Given the description of an element on the screen output the (x, y) to click on. 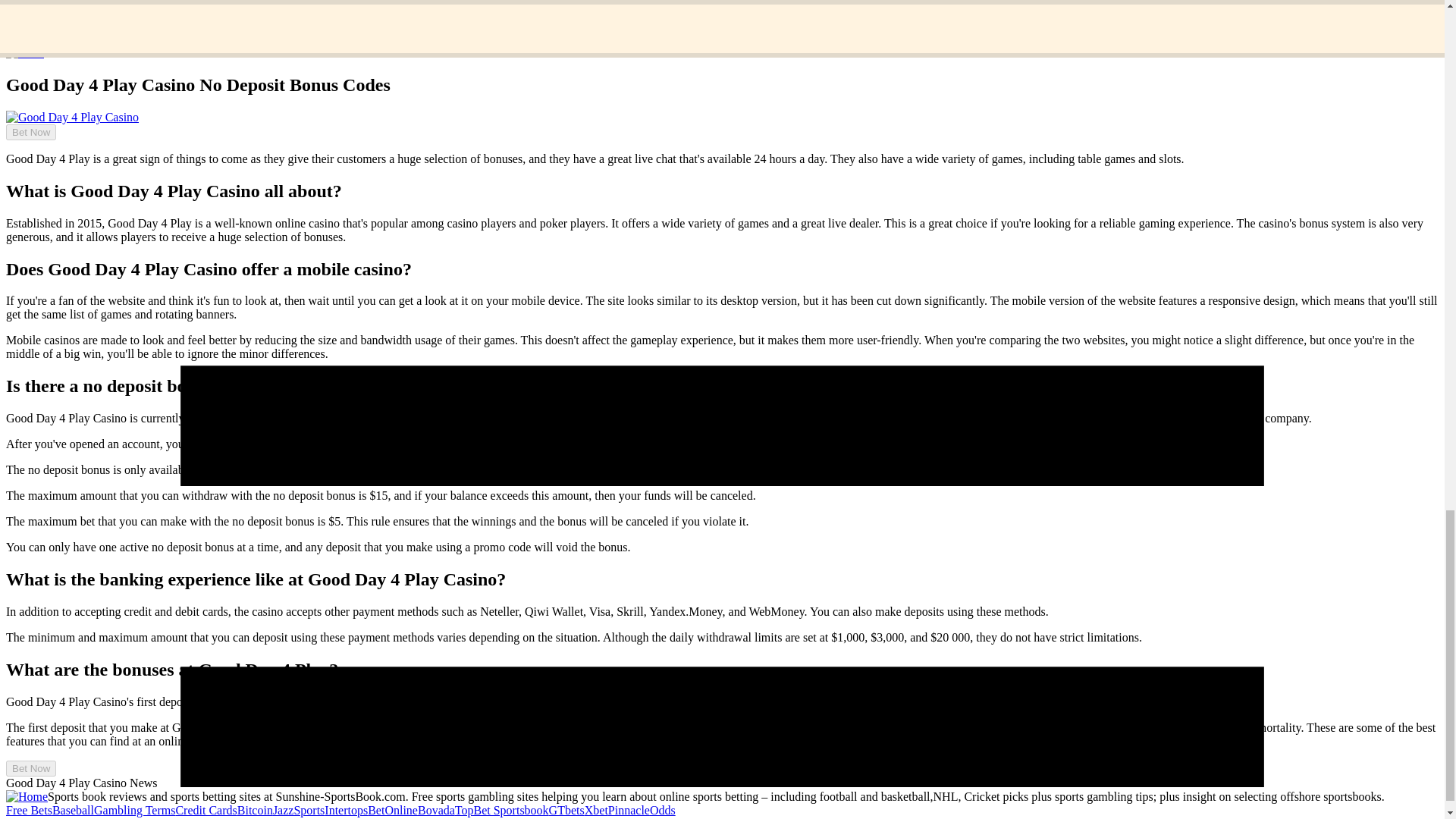
JazzSports (298, 809)
Bet Now (30, 132)
GTbets (566, 809)
TopBet Sportsbook (501, 809)
Intertops (346, 809)
Baseball (73, 809)
Credit Cards (204, 809)
BetOnline (392, 809)
Bet Now (24, 117)
News (50, 26)
